Given the description of an element on the screen output the (x, y) to click on. 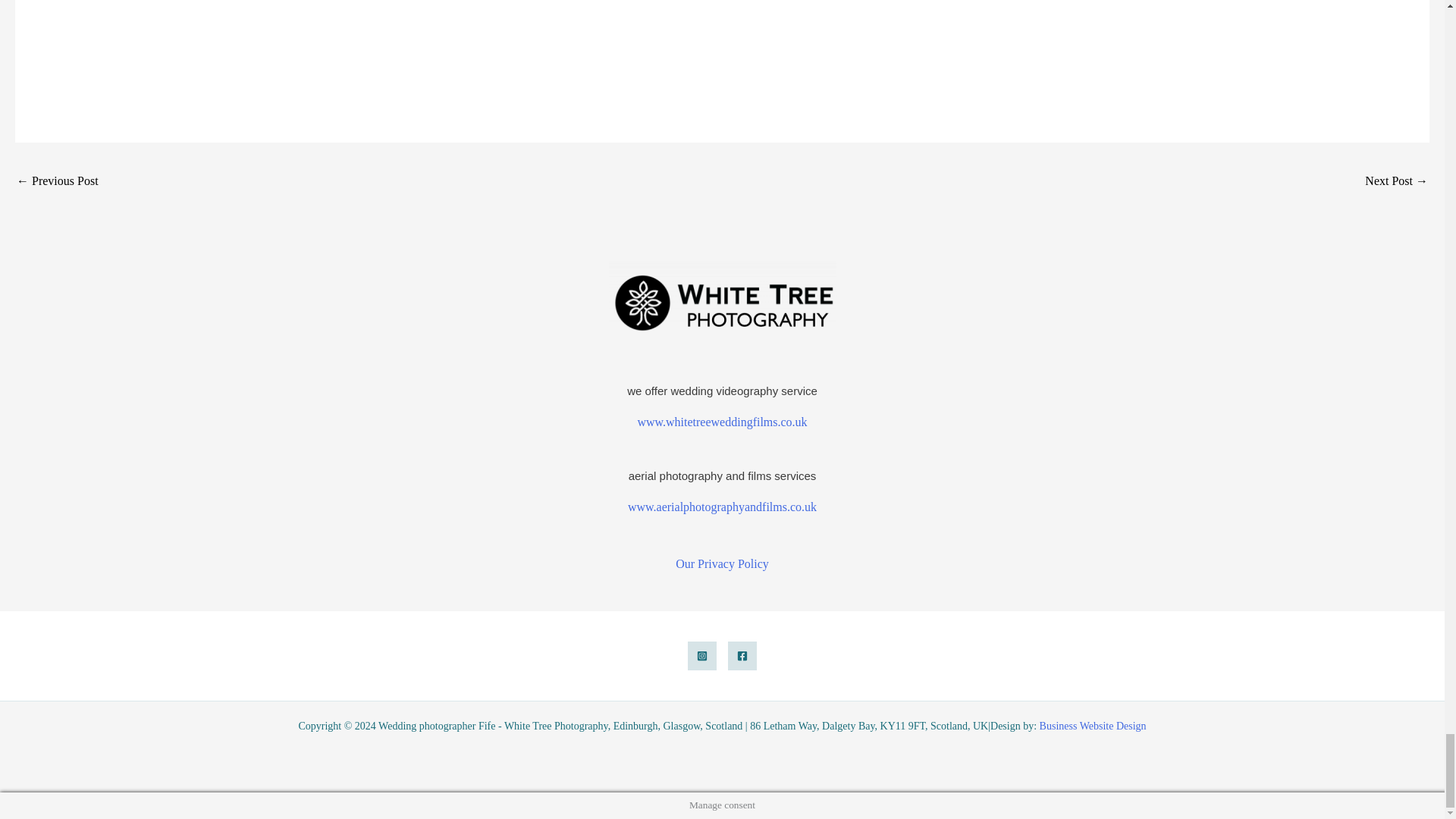
Our Privacy Policy (721, 563)
www.whitetreeweddingfilms.co.uk (721, 421)
www.aerialphotographyandfilms.co.uk (721, 506)
Business Website Design (1093, 726)
